Given the description of an element on the screen output the (x, y) to click on. 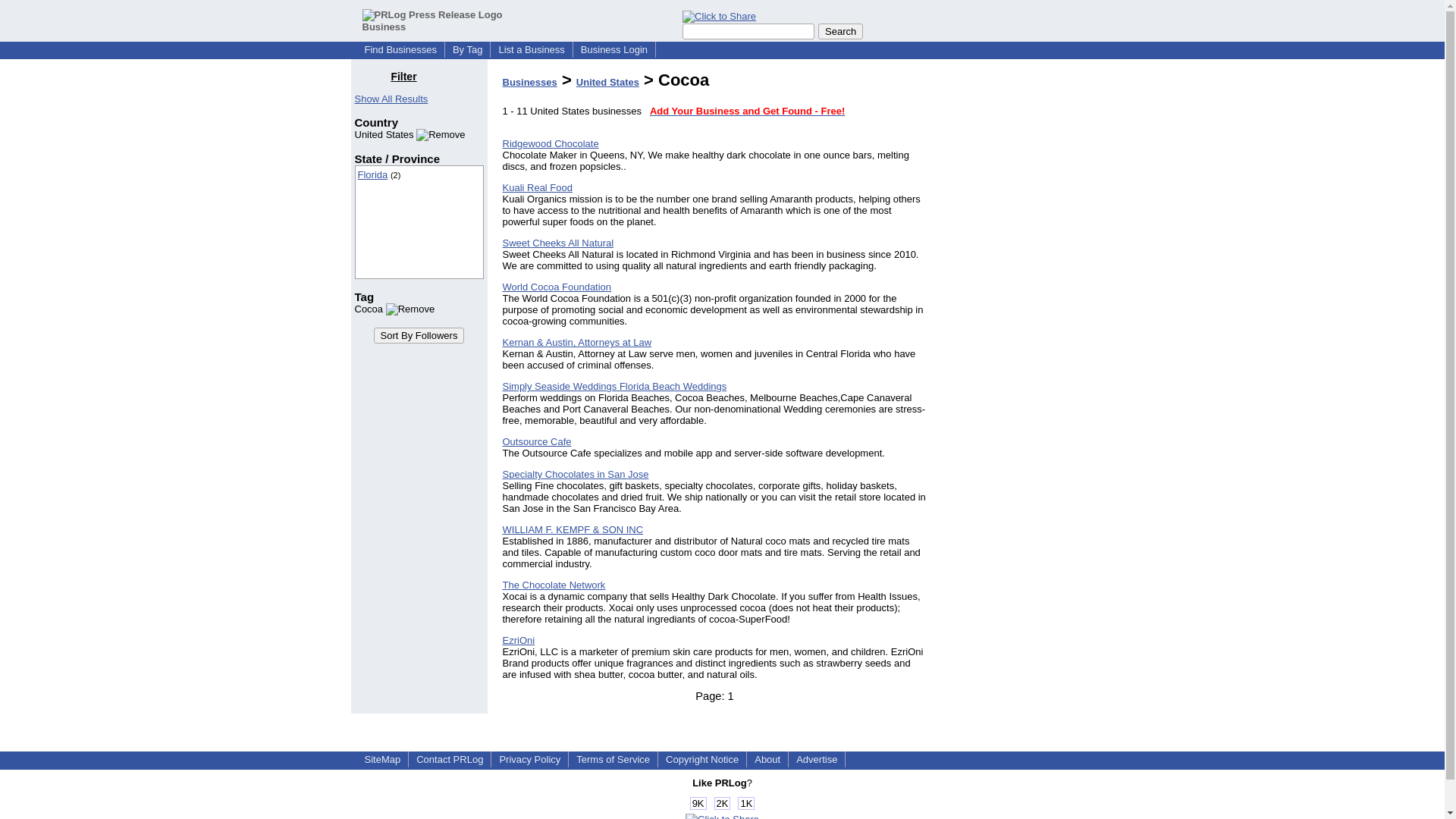
Business (432, 20)
United States (607, 81)
Add Your Business and Get Found - Free! (746, 111)
Ridgewood Chocolate (550, 143)
Contact PRLog (449, 758)
Click to see the index with all filters cleared (391, 98)
Show All Results (391, 98)
Kuali Real Food (537, 187)
Click to remove this filter (410, 134)
Businesses (529, 81)
Florida (373, 174)
Business Login (614, 49)
List a Business (531, 49)
Simply Seaside Weddings Florida Beach Weddings (614, 386)
Terms of Service (613, 758)
